Given the description of an element on the screen output the (x, y) to click on. 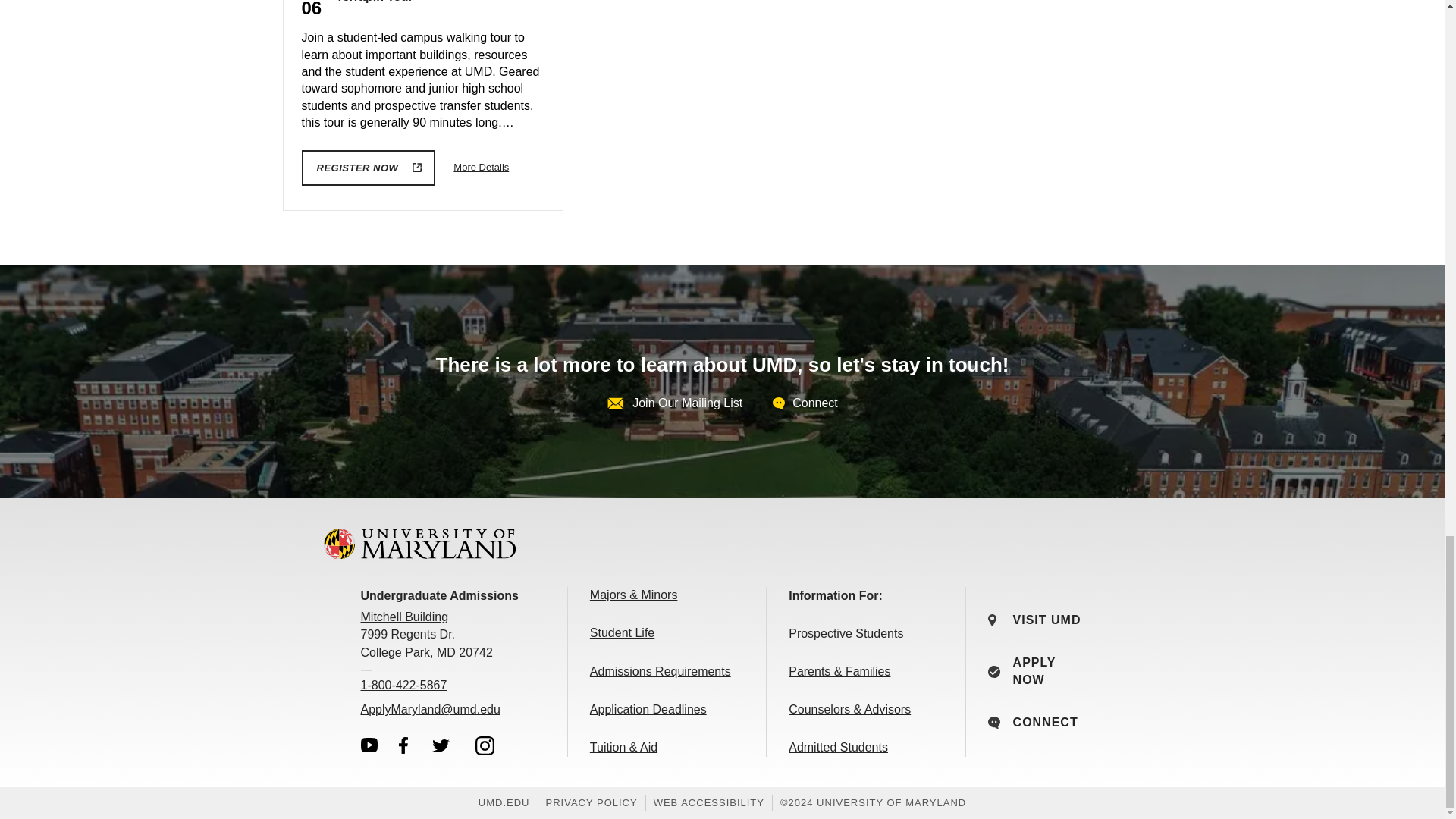
instagram (485, 744)
envelope (615, 402)
chat (994, 722)
youtube (369, 744)
checkmark (994, 671)
twitter (440, 744)
